Given the description of an element on the screen output the (x, y) to click on. 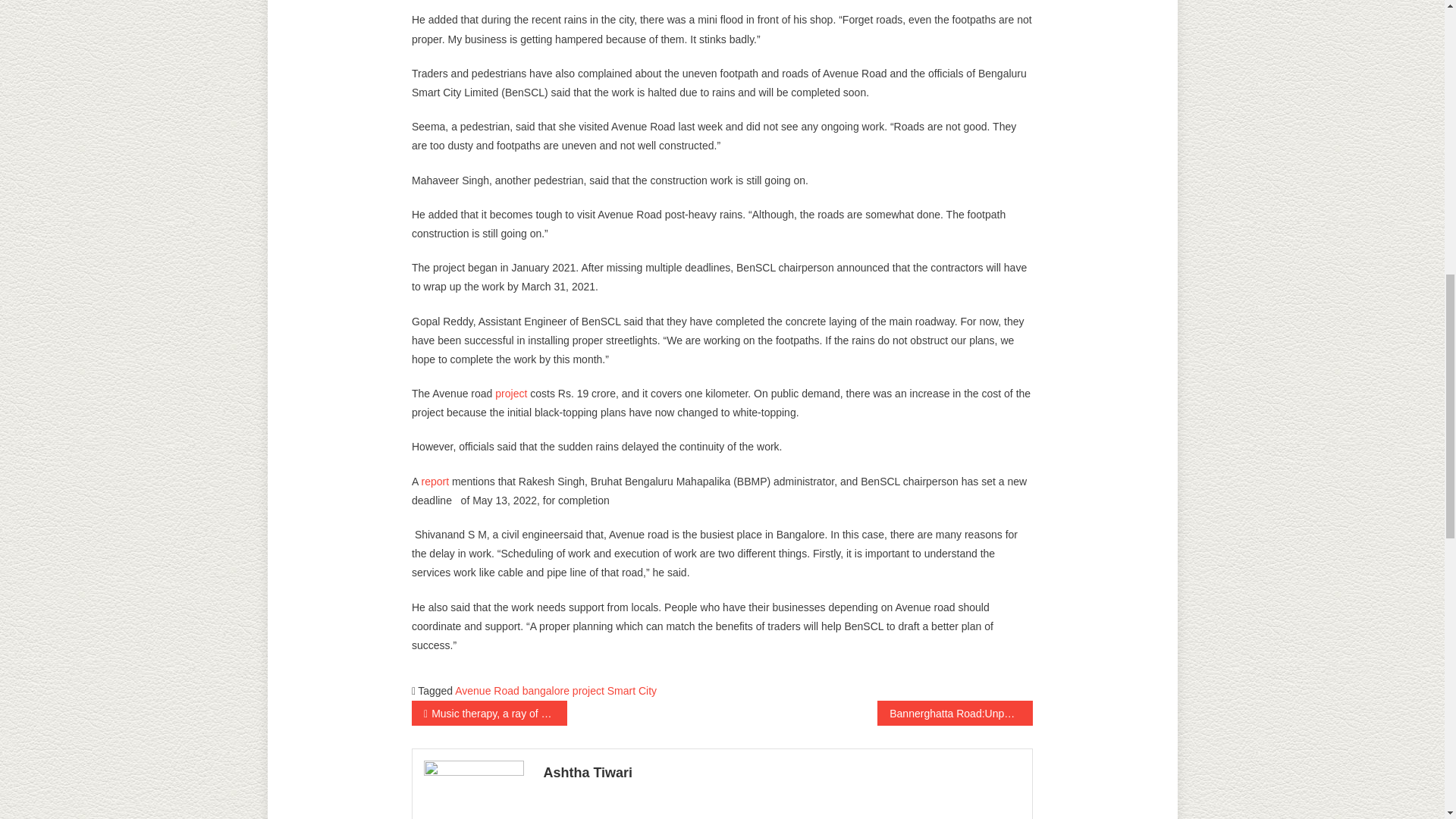
Music therapy, a ray of hope for long Covid (489, 713)
Avenue Road (486, 690)
Bannerghatta Road:Unpaved from three years (954, 713)
project (511, 393)
project (588, 690)
report (434, 481)
bangalore (545, 690)
Smart City (631, 690)
